Given the description of an element on the screen output the (x, y) to click on. 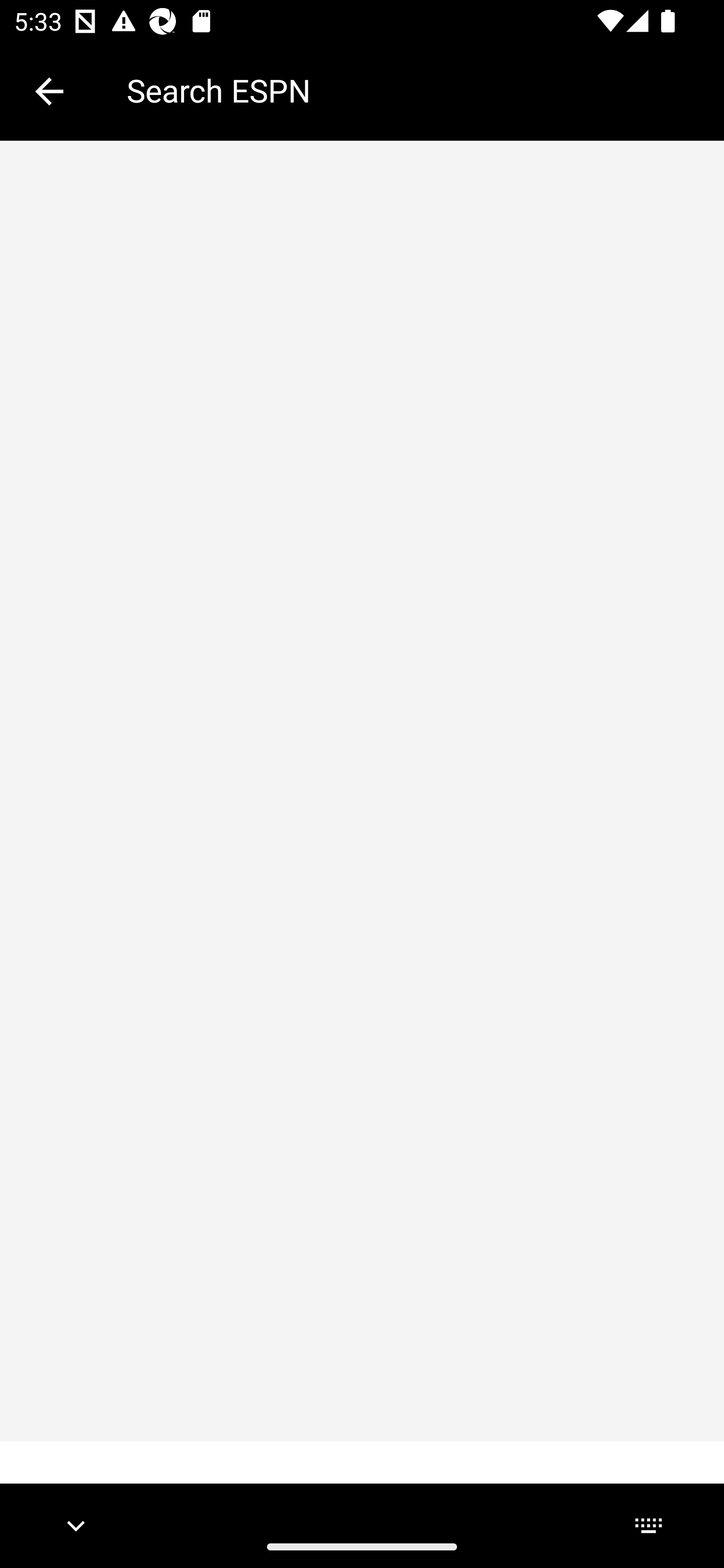
Collapse (49, 91)
Search ESPN (411, 90)
